Given the description of an element on the screen output the (x, y) to click on. 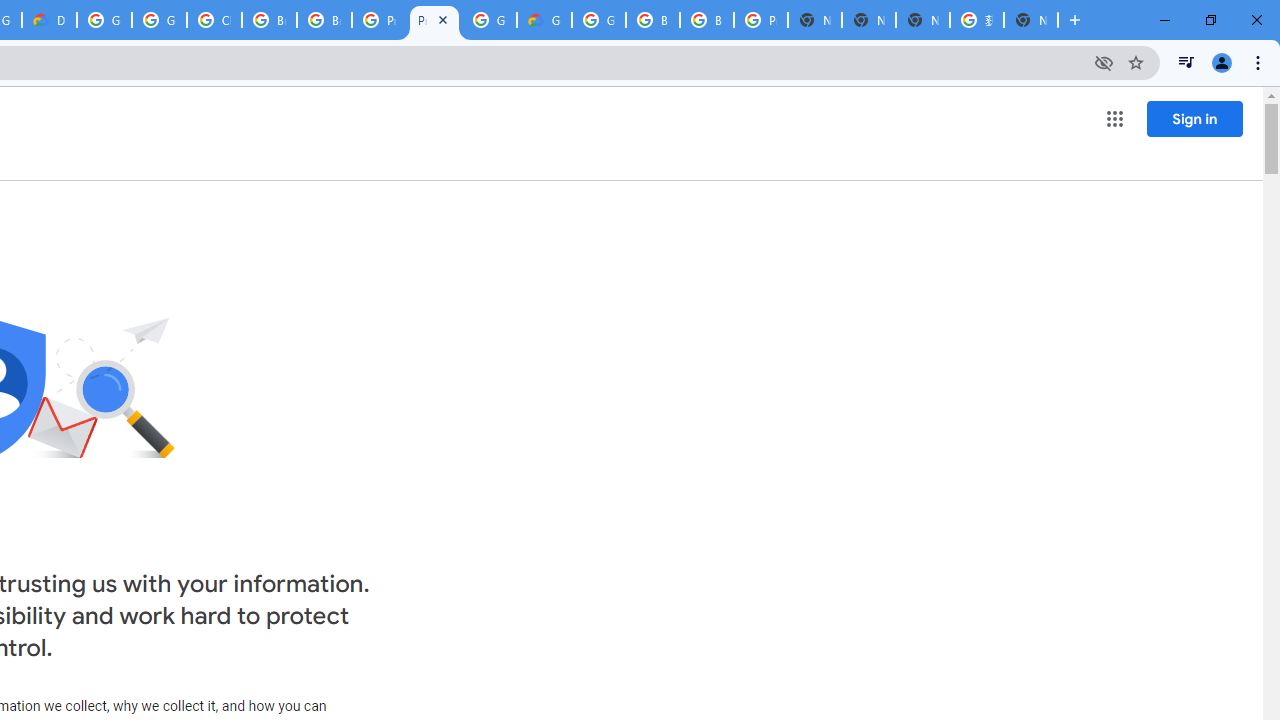
Browse Chrome as a guest - Computer - Google Chrome Help (706, 20)
Google Cloud Platform (489, 20)
Google Cloud Platform (598, 20)
Control your music, videos, and more (1185, 62)
